Given the description of an element on the screen output the (x, y) to click on. 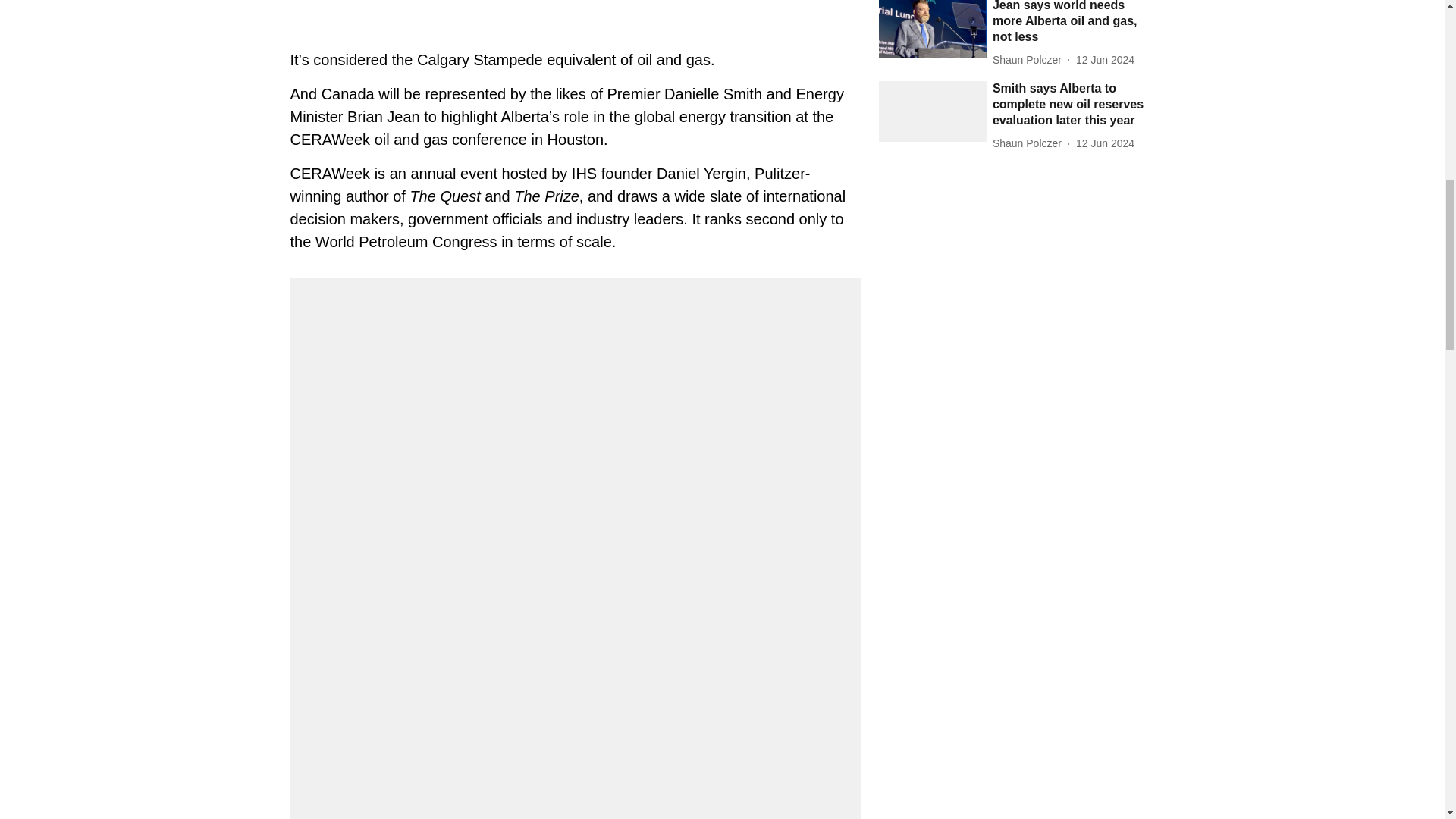
2024-06-11 18:05 (1104, 143)
3rd party ad content (574, 9)
2024-06-11 21:11 (1104, 59)
3rd party ad content (1015, 289)
